Given the description of an element on the screen output the (x, y) to click on. 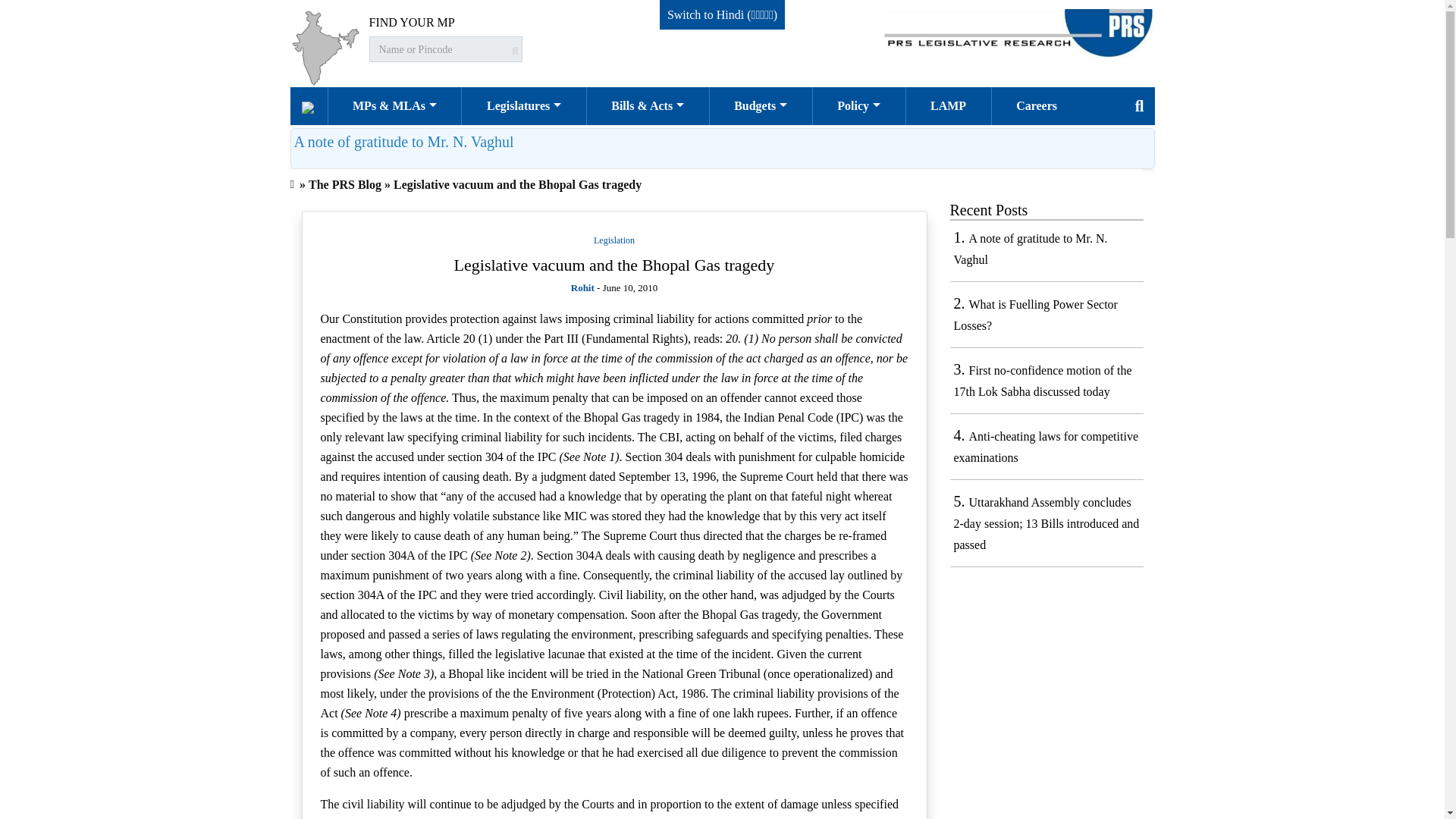
Budgets (761, 105)
View (1035, 315)
View (1046, 523)
View (403, 141)
Policy (858, 105)
View (1030, 248)
View (1045, 446)
Legislatures (523, 105)
View (614, 264)
LAMP (948, 105)
View (1042, 380)
